Given the description of an element on the screen output the (x, y) to click on. 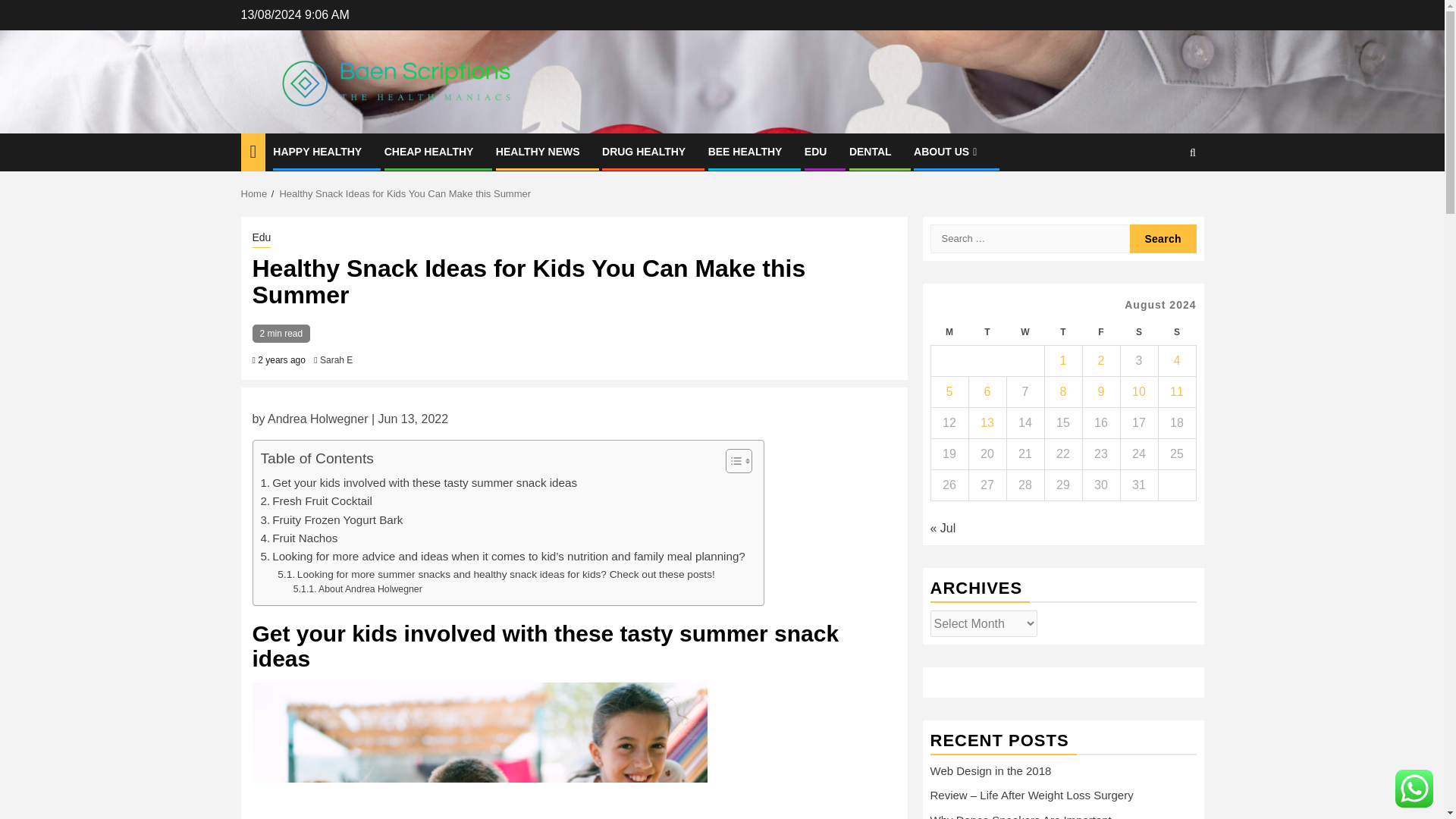
Fresh Fruit Cocktail (316, 501)
ABOUT US (946, 151)
Home (254, 193)
Monday (949, 332)
Tuesday (987, 332)
Search (1163, 198)
Fruit Nachos (298, 538)
HEALTHY NEWS (537, 151)
Fruit Nachos (298, 538)
